Given the description of an element on the screen output the (x, y) to click on. 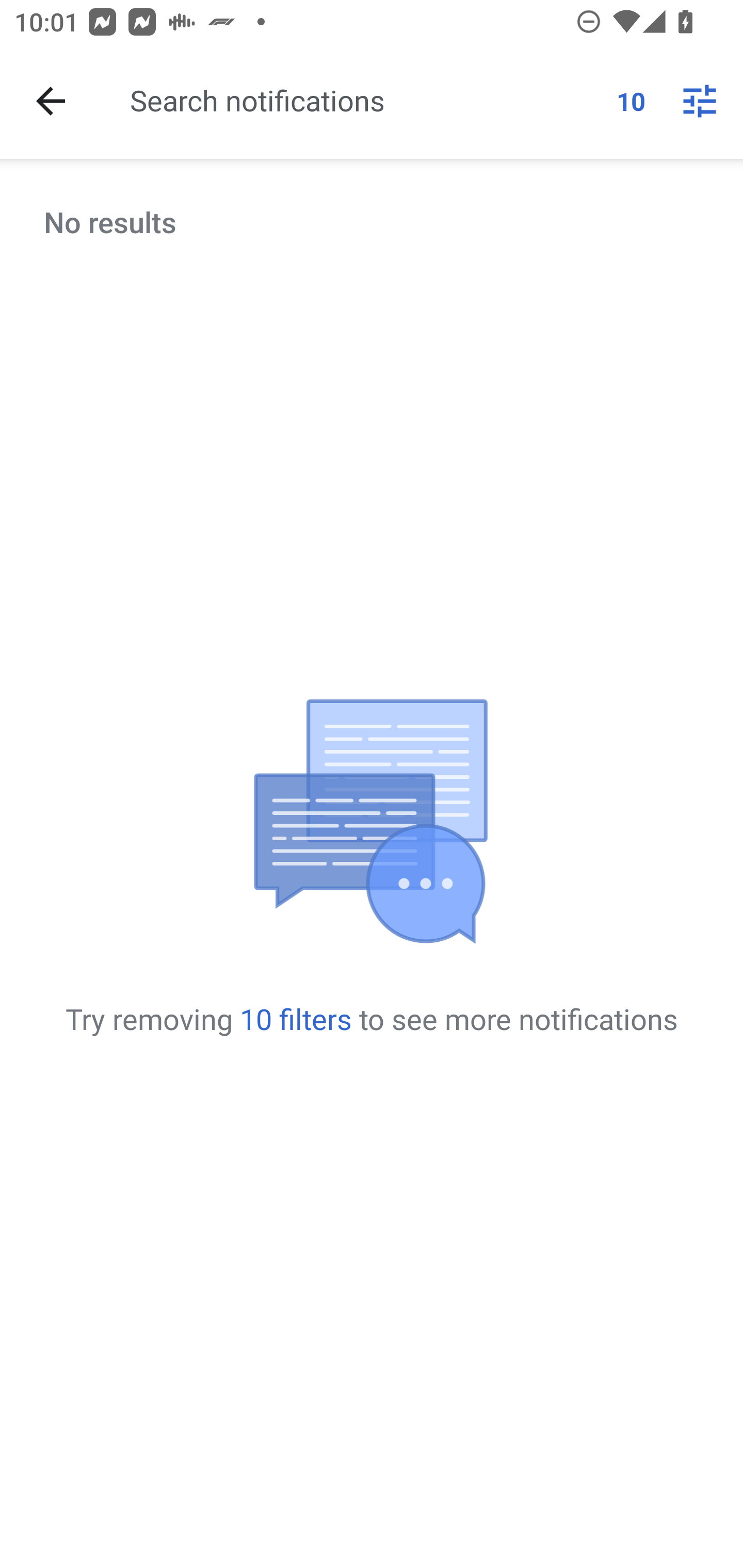
Done (50, 101)
More (699, 101)
Search notifications (365, 100)
